Given the description of an element on the screen output the (x, y) to click on. 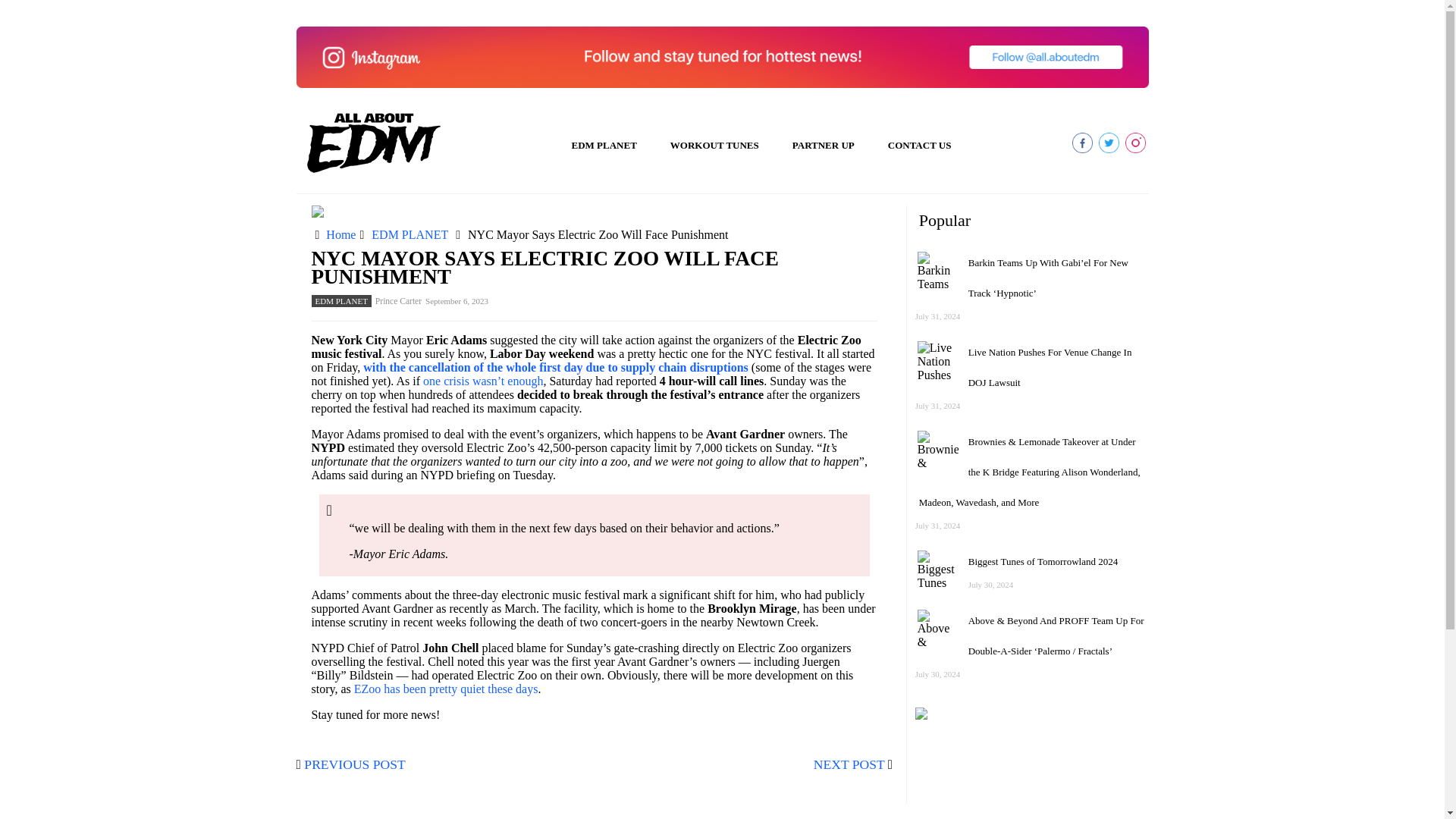
PARTNER UP (823, 145)
WORKOUT TUNES (714, 145)
PREVIOUS POST (354, 764)
Biggest Tunes of Tomorrowland 2024 (1043, 561)
Prince Carter (398, 300)
EZoo has been pretty quiet these days (445, 688)
EDM PLANET (409, 234)
Live Nation Pushes For Venue Change In DOJ Lawsuit (1050, 367)
EDM PLANET (341, 300)
NEXT POST (849, 764)
